Given the description of an element on the screen output the (x, y) to click on. 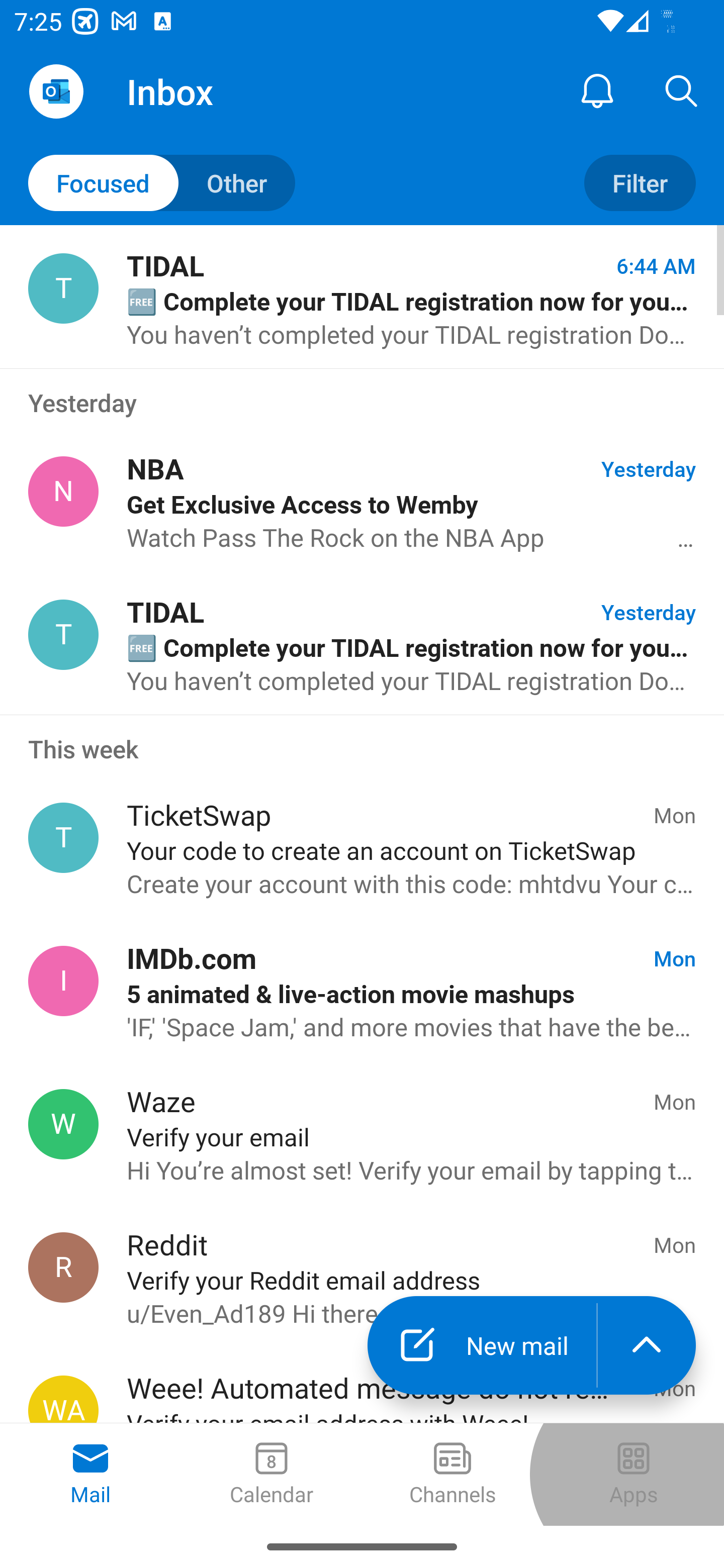
Notification Center (597, 90)
Search, ,  (681, 90)
Open Navigation Drawer (55, 91)
Toggle to other mails (161, 183)
Filter (639, 183)
TIDAL, hello@email.tidal.com (63, 288)
NBA, NBA@email.nba.com (63, 491)
TIDAL, hello@email.tidal.com (63, 633)
TicketSwap, info@ticketswap.com (63, 837)
IMDb.com, do-not-reply@imdb.com (63, 980)
Waze, noreply@waze.com (63, 1123)
Reddit, noreply@reddit.com (63, 1267)
New mail (481, 1344)
launch the extended action menu (646, 1344)
Calendar (271, 1474)
Channels (452, 1474)
Apps (633, 1474)
